Given the description of an element on the screen output the (x, y) to click on. 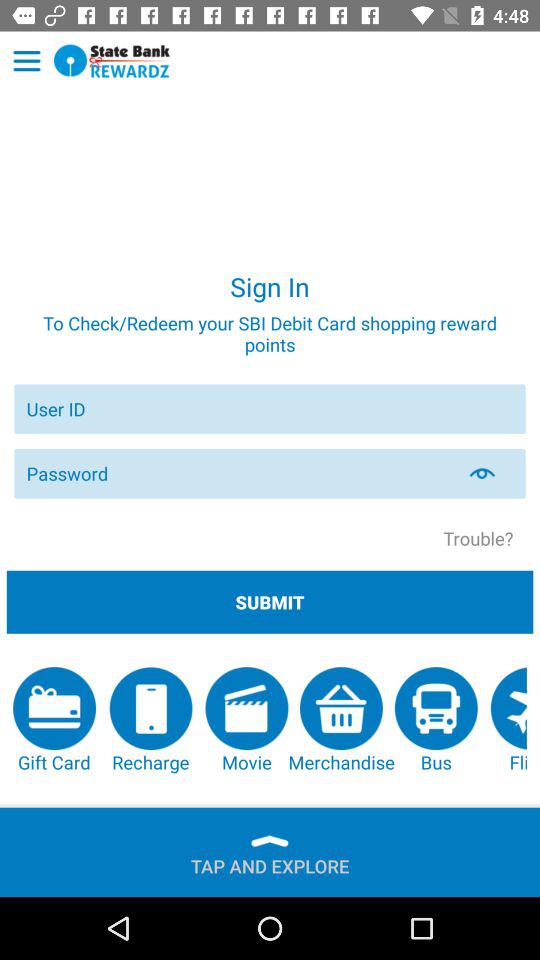
go to homepage (112, 60)
